Given the description of an element on the screen output the (x, y) to click on. 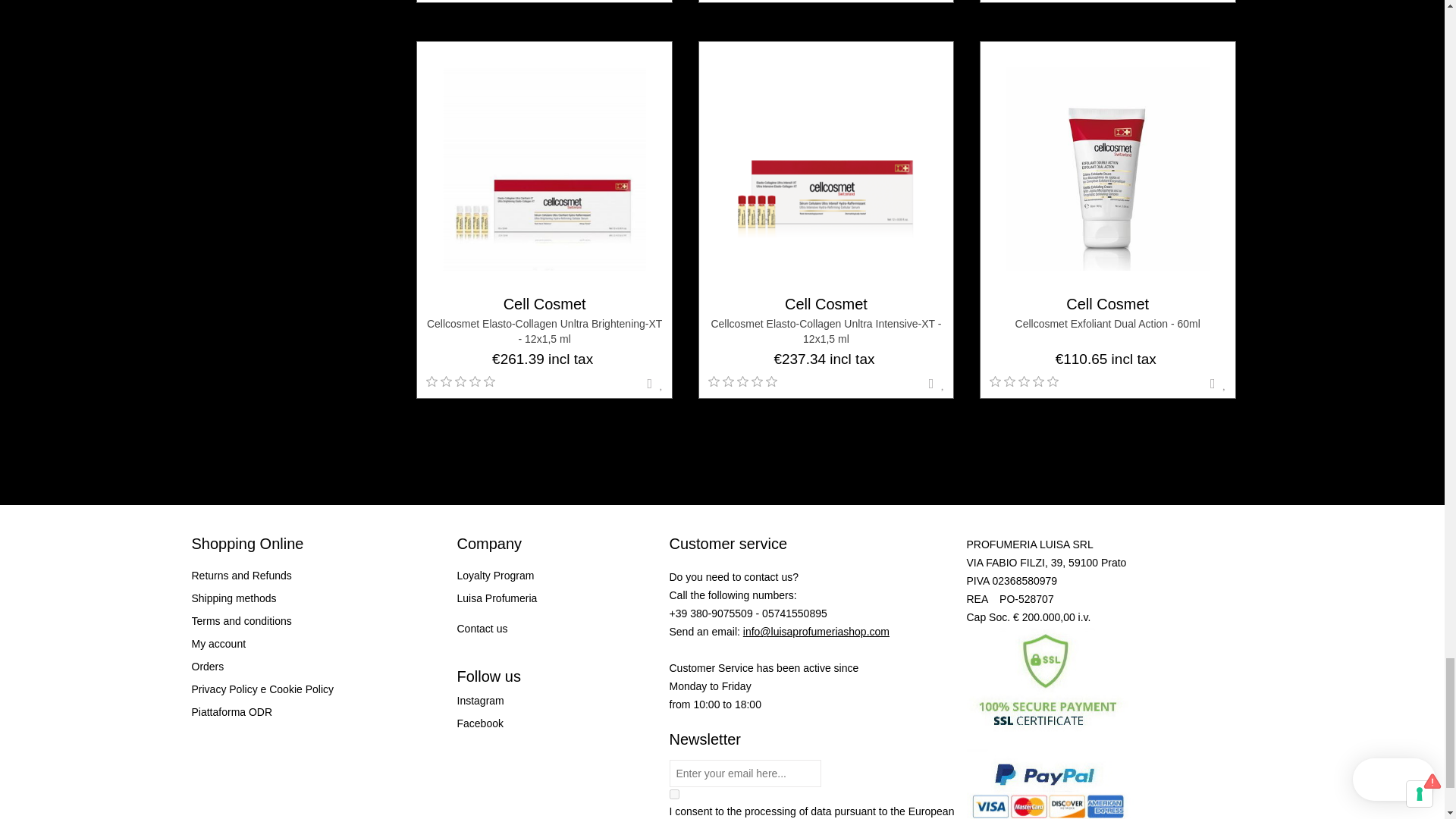
on (673, 794)
